Given the description of an element on the screen output the (x, y) to click on. 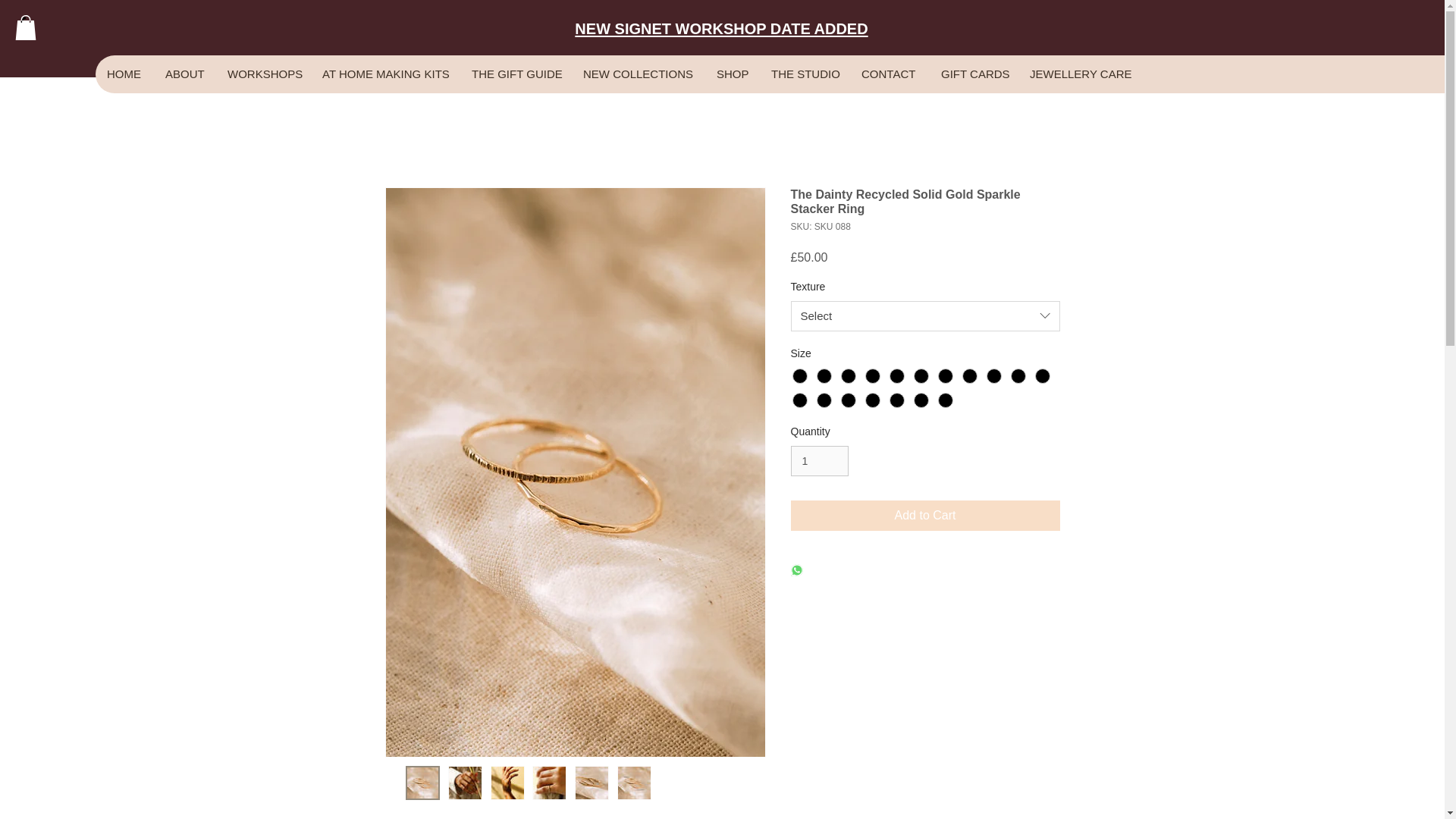
GIFT CARDS (972, 74)
THE STUDIO (803, 74)
SHOP (731, 74)
WORKSHOPS (262, 74)
Select (924, 316)
AT HOME MAKING KITS (385, 74)
CONTACT (888, 74)
Add to Cart (924, 515)
NEW SIGNET WORKSHOP DATE ADDED (721, 27)
HOME (124, 74)
THE GIFT GUIDE (515, 74)
JEWELLERY CARE (1076, 74)
ABOUT (183, 74)
1 (818, 460)
NEW COLLECTIONS (637, 74)
